Given the description of an element on the screen output the (x, y) to click on. 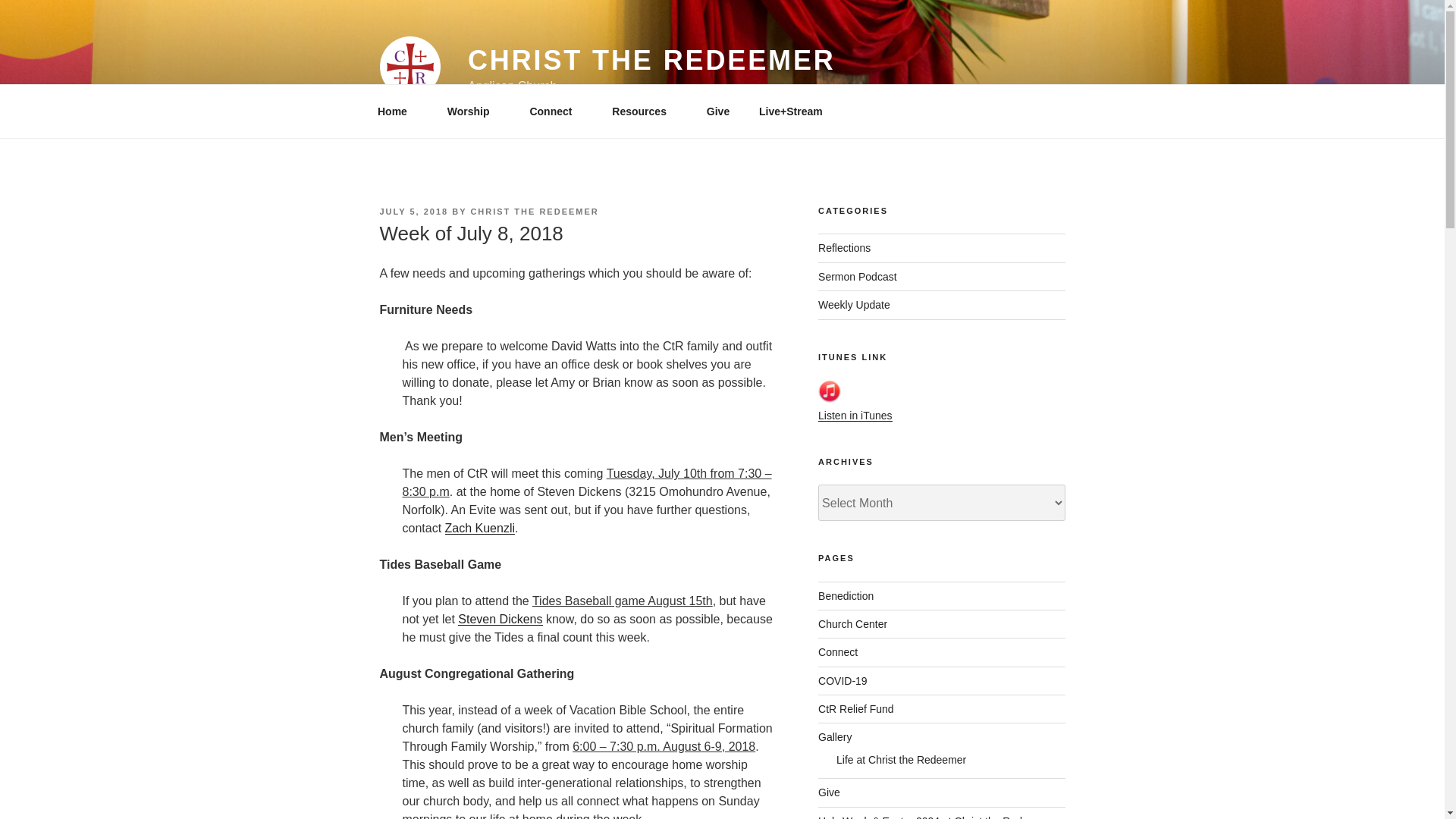
Weekly Update (853, 304)
Connect (555, 110)
CHRIST THE REDEEMER (534, 211)
Reflections (844, 247)
JULY 5, 2018 (413, 211)
Give (717, 110)
Steven Dickens (499, 618)
Sermon Podcast (857, 276)
Zach Kuenzli (480, 527)
Worship (473, 110)
